Given the description of an element on the screen output the (x, y) to click on. 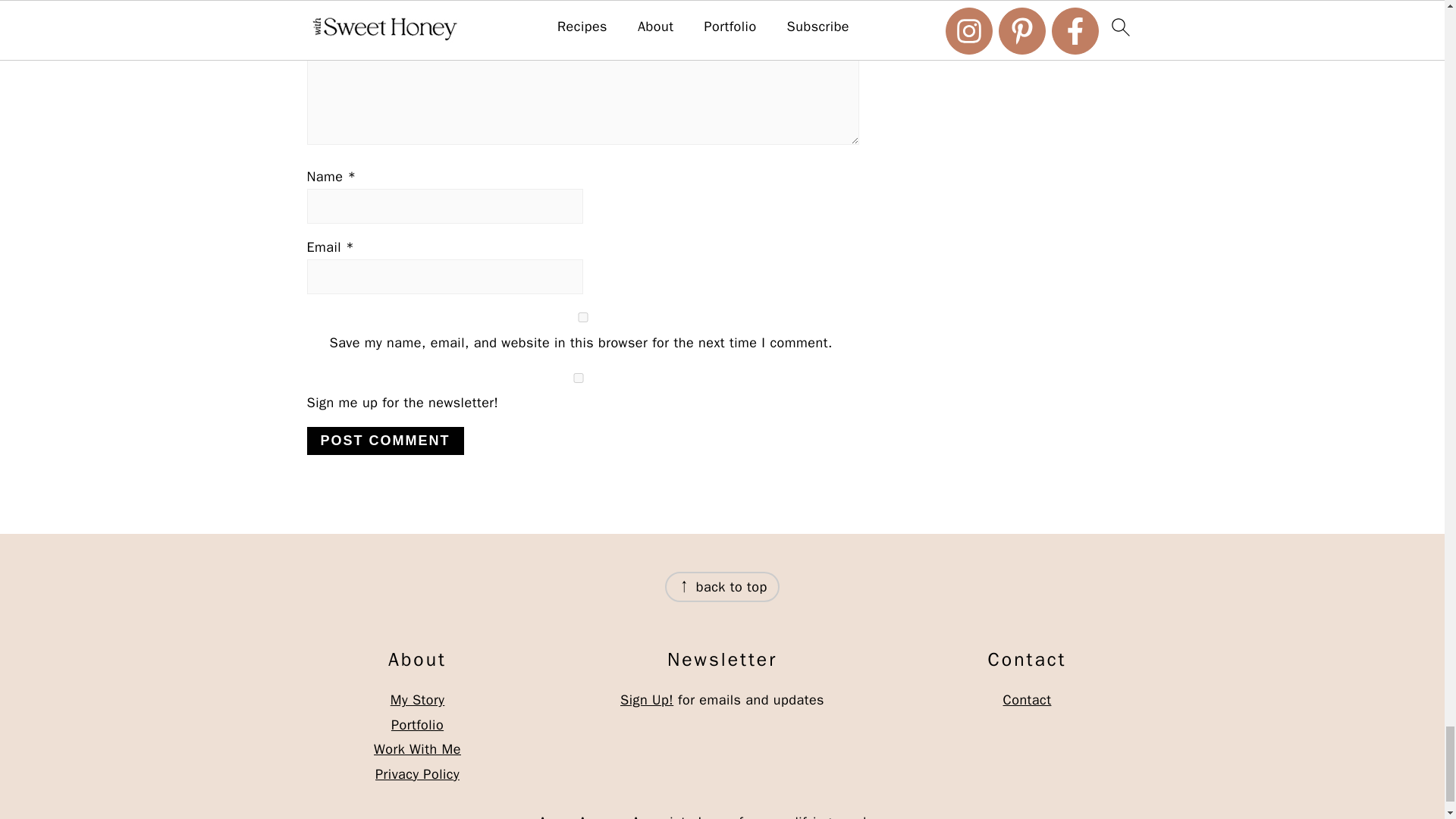
Post Comment (384, 440)
1 (576, 378)
yes (582, 317)
